Given the description of an element on the screen output the (x, y) to click on. 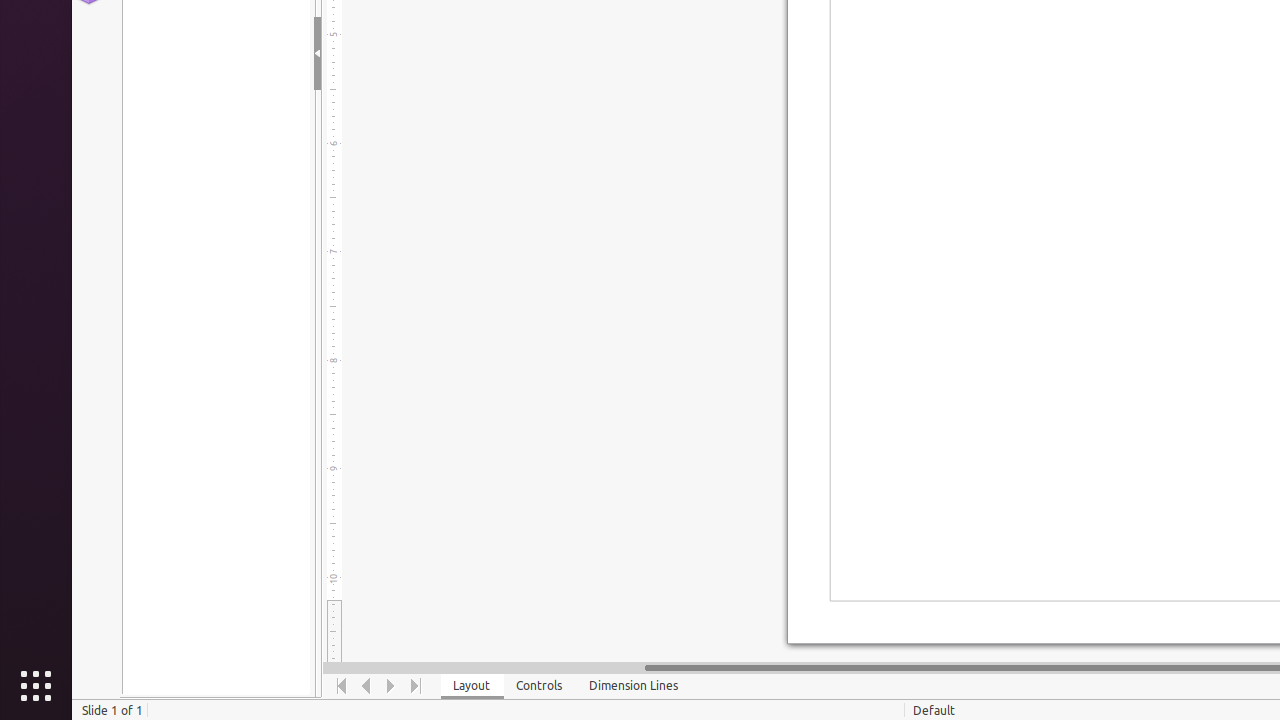
Move Right Element type: push-button (391, 686)
Dimension Lines Element type: page-tab (634, 686)
Show Applications Element type: toggle-button (36, 686)
